Given the description of an element on the screen output the (x, y) to click on. 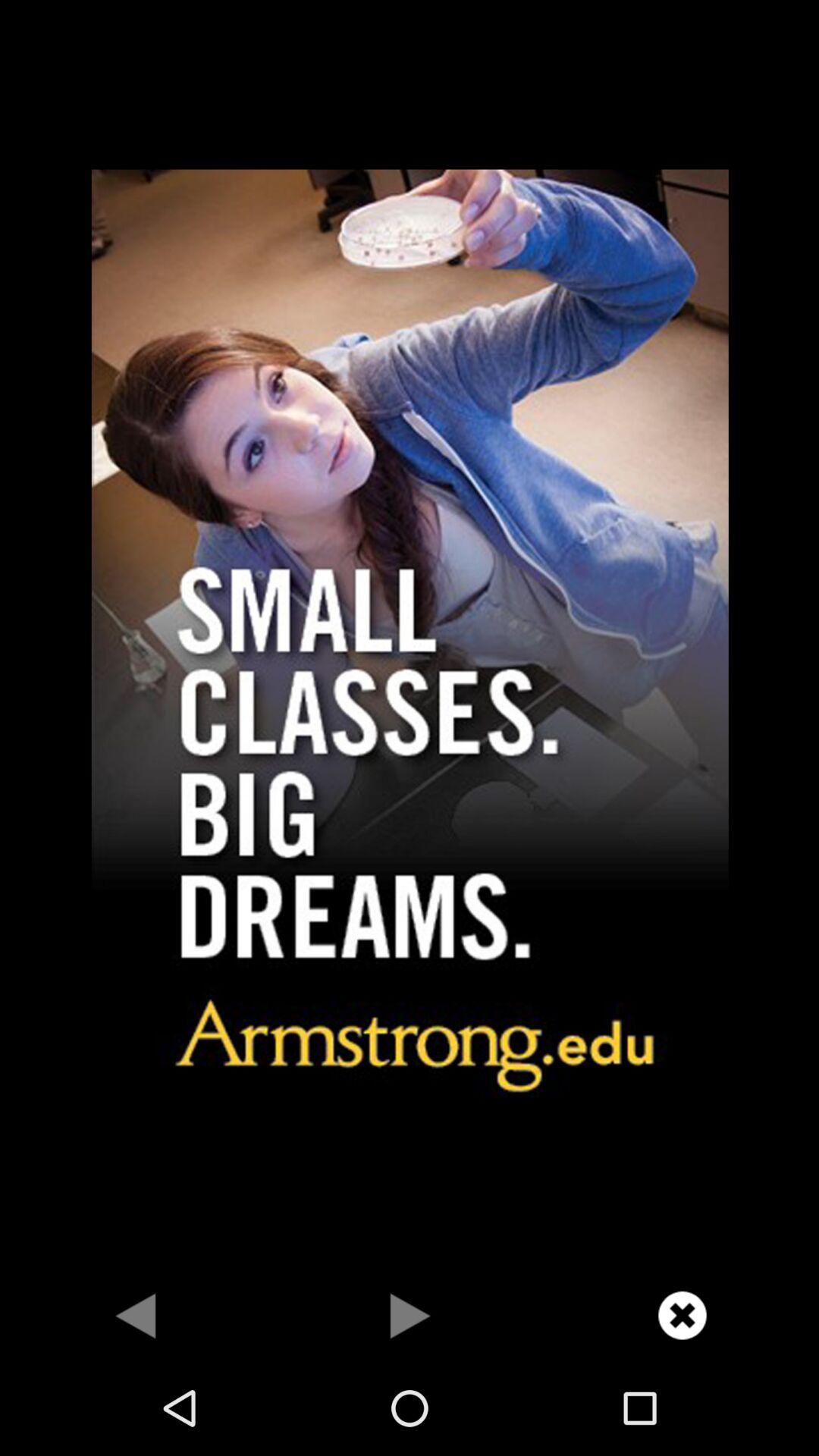
add image icon (409, 635)
